Given the description of an element on the screen output the (x, y) to click on. 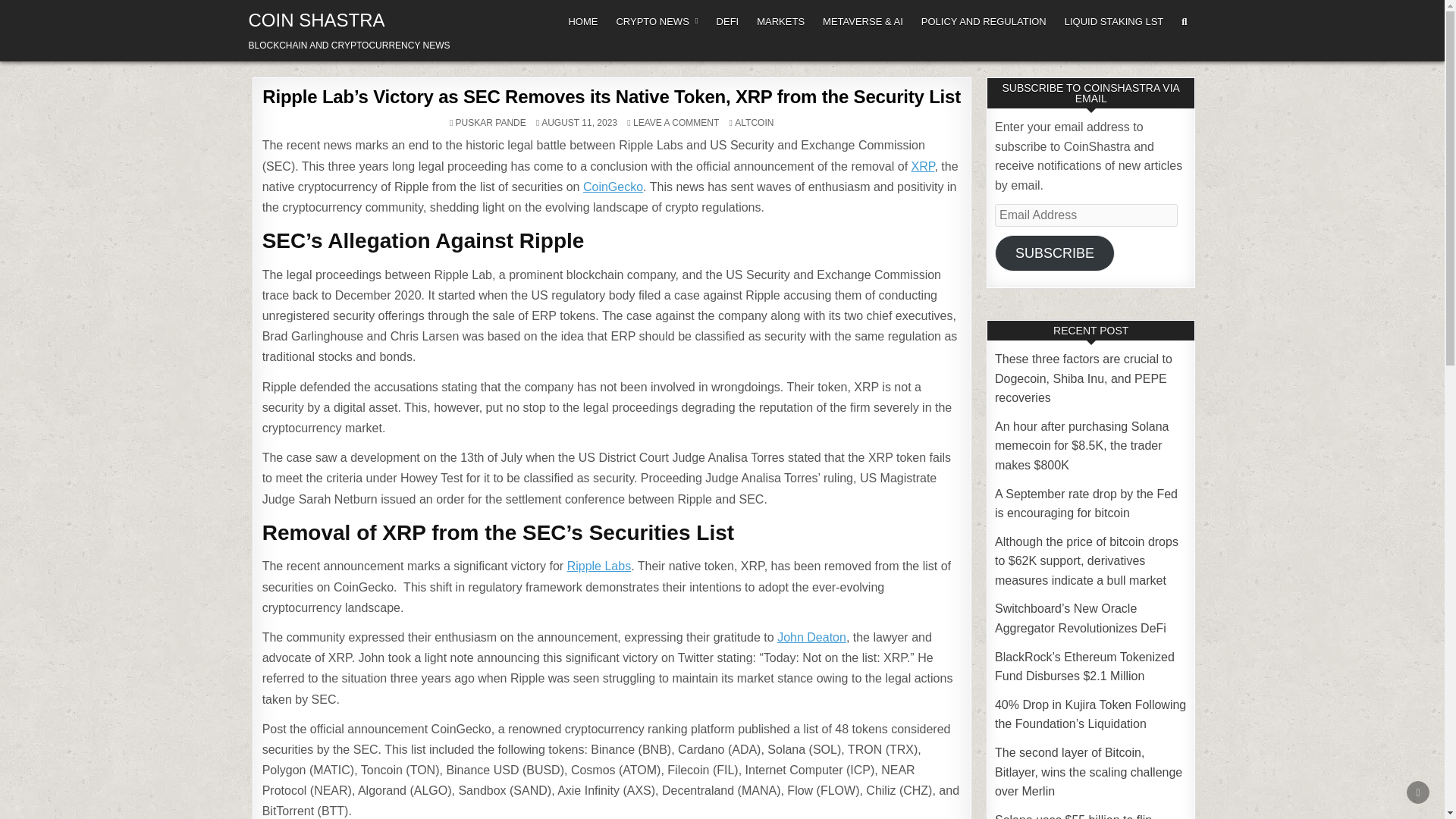
MARKETS (780, 21)
COIN SHASTRA (316, 19)
LIQUID STAKING LST (1114, 21)
HOME (583, 21)
John Deaton (811, 636)
CRYPTO NEWS (656, 21)
XRP (922, 165)
PUSKAR PANDE (490, 122)
DEFI (727, 21)
ALTCOIN (754, 122)
CoinGecko (613, 186)
Ripple Labs (599, 565)
SCROLL TO TOP (1417, 792)
POLICY AND REGULATION (983, 21)
